Given the description of an element on the screen output the (x, y) to click on. 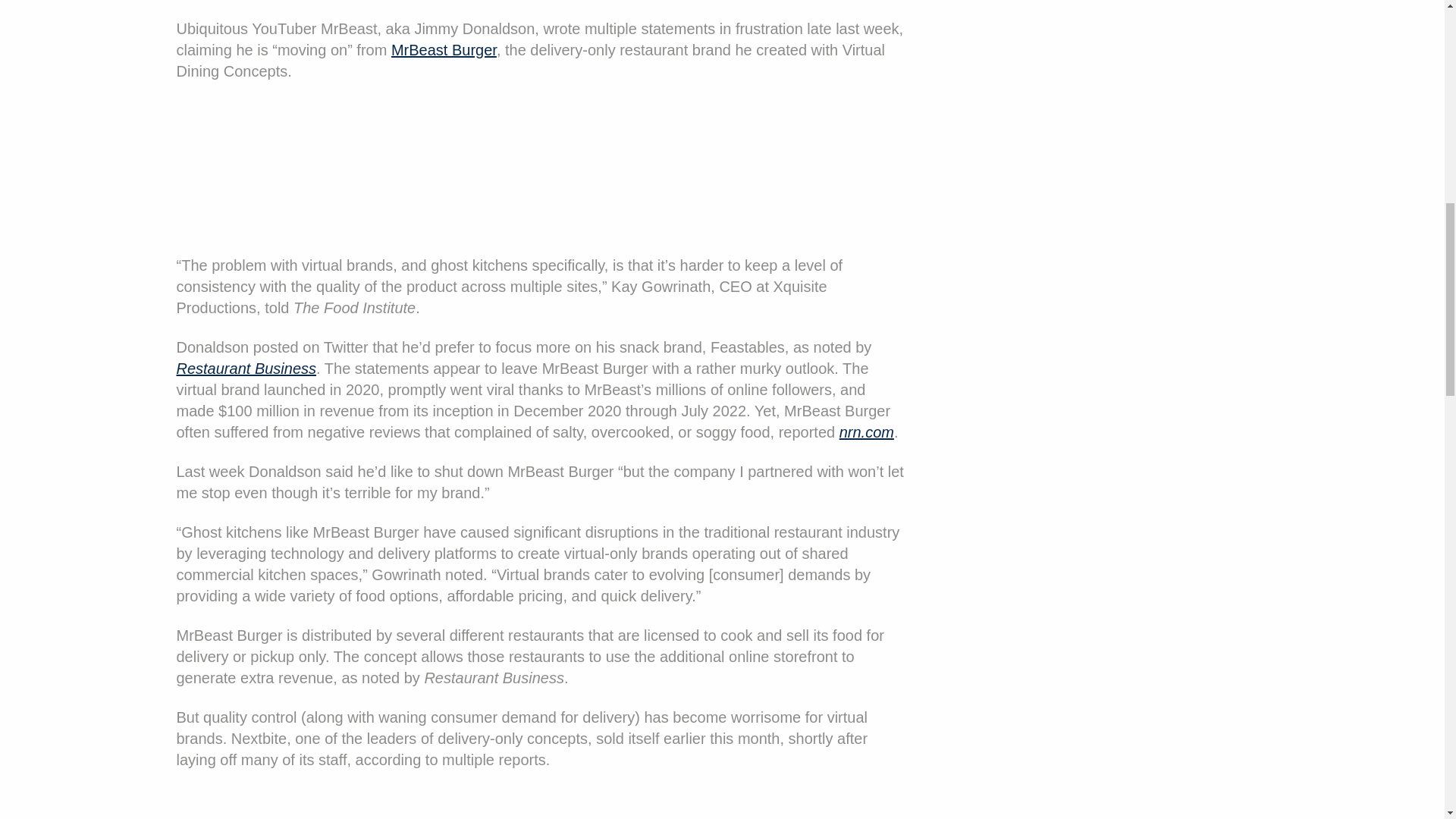
SHOP (716, 379)
ADVERTISE (716, 303)
DATA INSIGHTS (61, 113)
MEMBER PROFILE (71, 75)
WEBINAR (43, 189)
EARNINGS AND SALES (85, 37)
ADVISORY SERVICES (716, 341)
ECONOMIC BENCHMARKING (106, 151)
NEWSLETTER SIGN UP (716, 265)
MY ACCOUNT (57, 227)
